Given the description of an element on the screen output the (x, y) to click on. 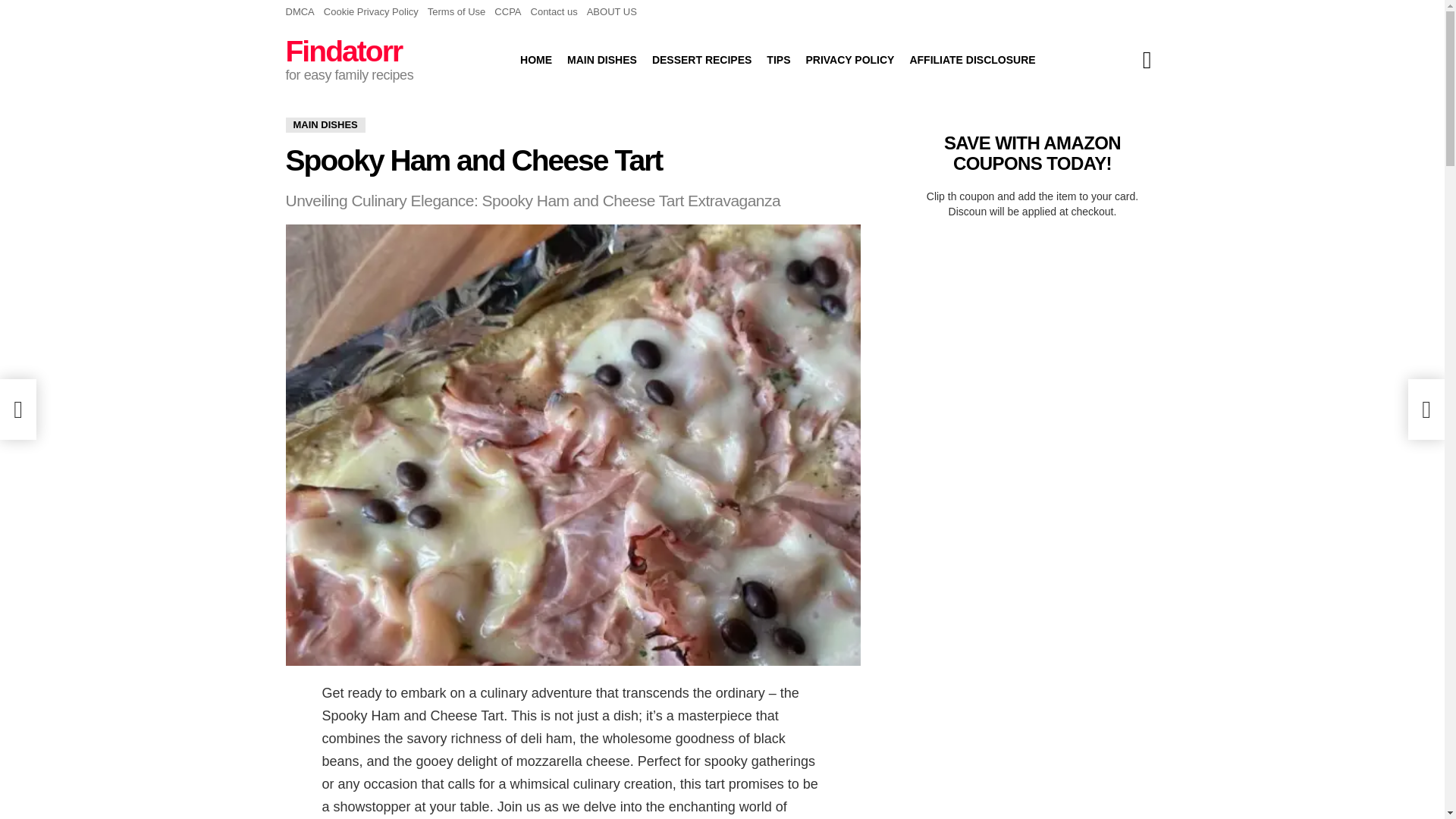
AFFILIATE DISCLOSURE (971, 59)
Contact us (554, 12)
MAIN DISHES (602, 59)
Terms of Use (457, 12)
TIPS (777, 59)
PRIVACY POLICY (849, 59)
MAIN DISHES (325, 124)
HOME (535, 59)
DESSERT RECIPES (701, 59)
SAVE WITH AMAZON COUPONS TODAY! (1032, 152)
